Given the description of an element on the screen output the (x, y) to click on. 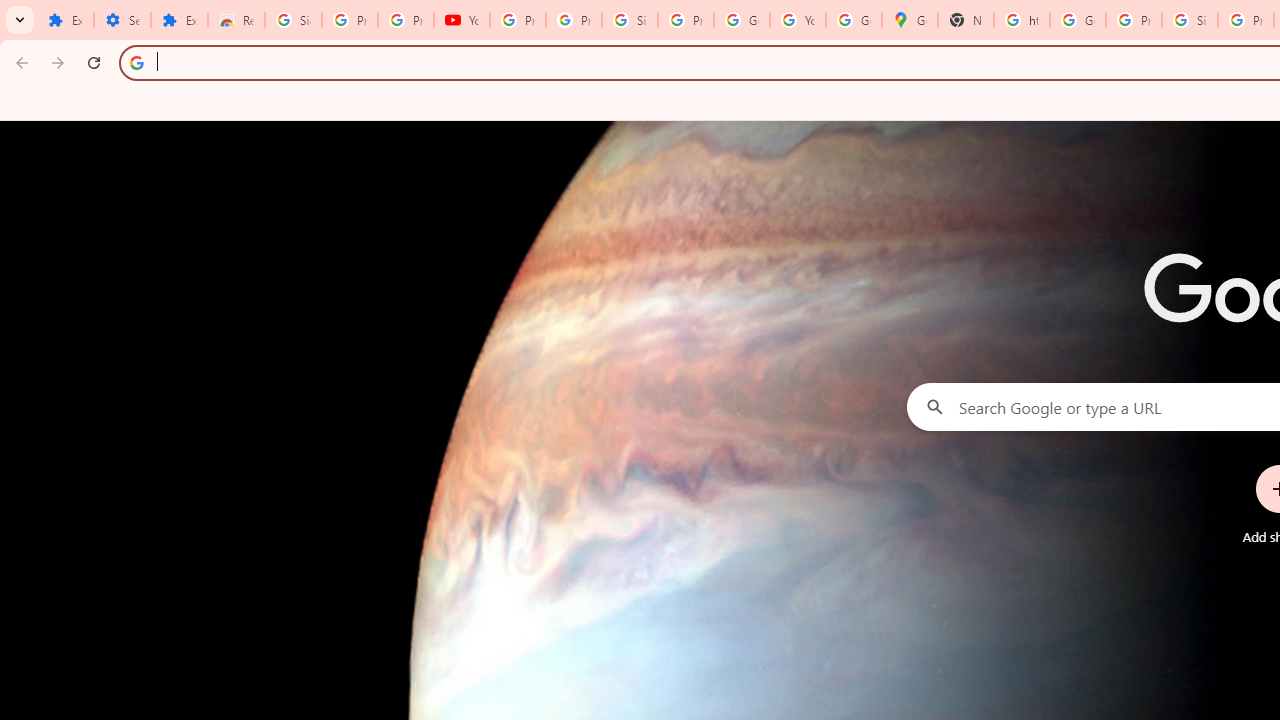
Sign in - Google Accounts (629, 20)
Google Maps (909, 20)
YouTube (461, 20)
YouTube (797, 20)
Sign in - Google Accounts (293, 20)
